Given the description of an element on the screen output the (x, y) to click on. 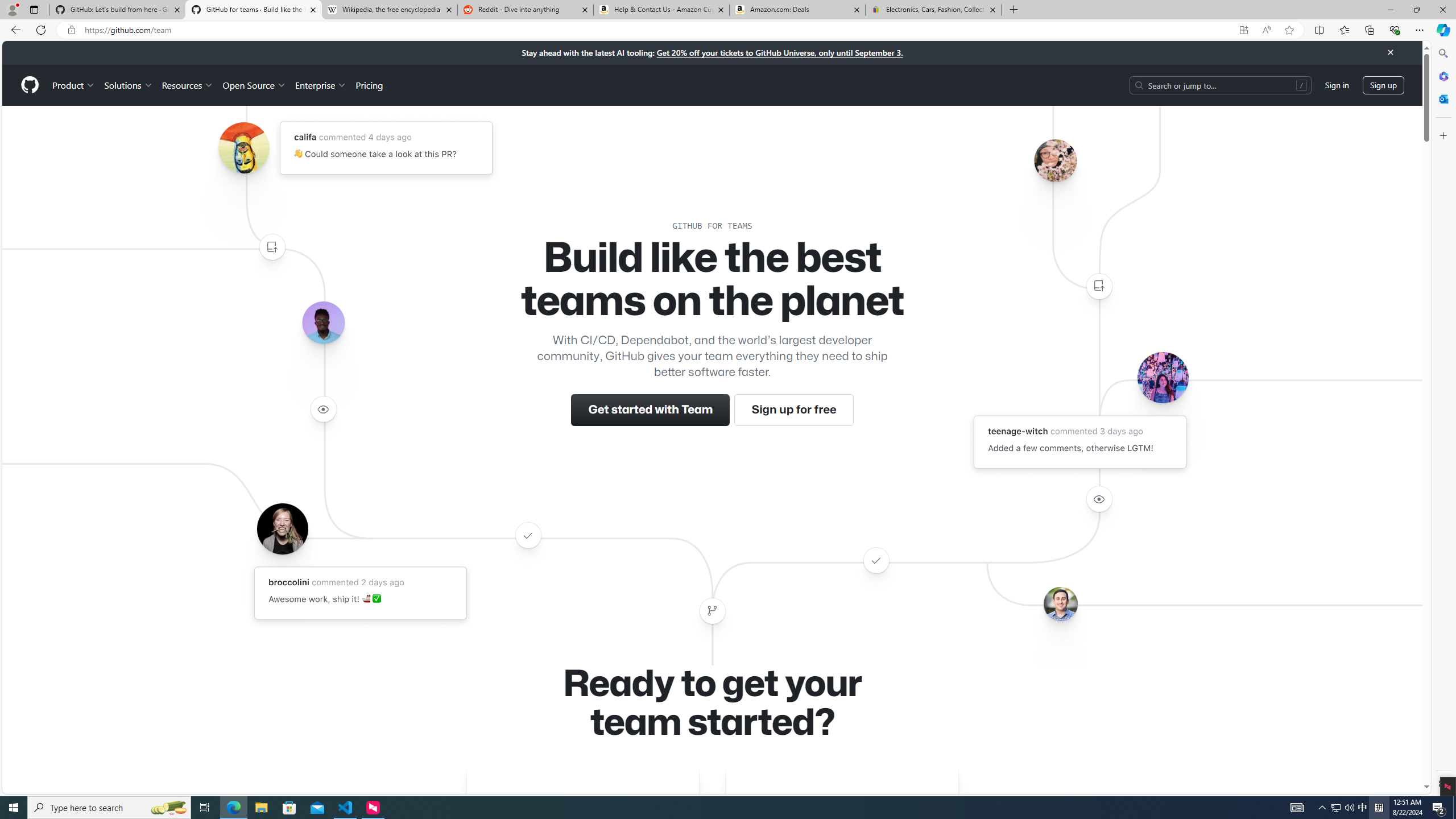
Open Source (254, 84)
